Given the description of an element on the screen output the (x, y) to click on. 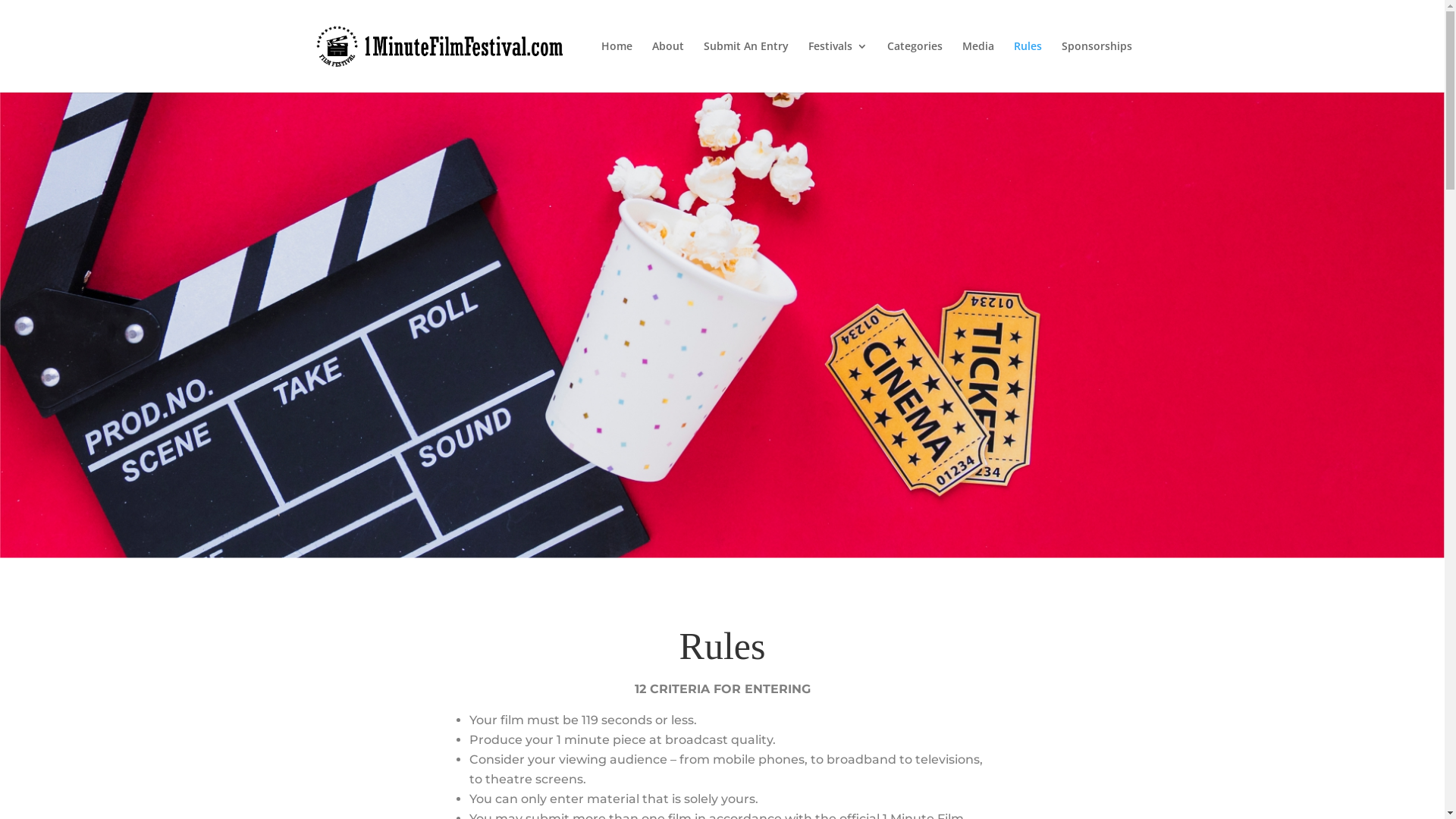
About Element type: text (668, 66)
Rules Element type: text (1027, 66)
Submit An Entry Element type: text (745, 66)
Categories Element type: text (914, 66)
Media Element type: text (977, 66)
Sponsorships Element type: text (1096, 66)
Festivals Element type: text (837, 66)
Home Element type: text (615, 66)
